Given the description of an element on the screen output the (x, y) to click on. 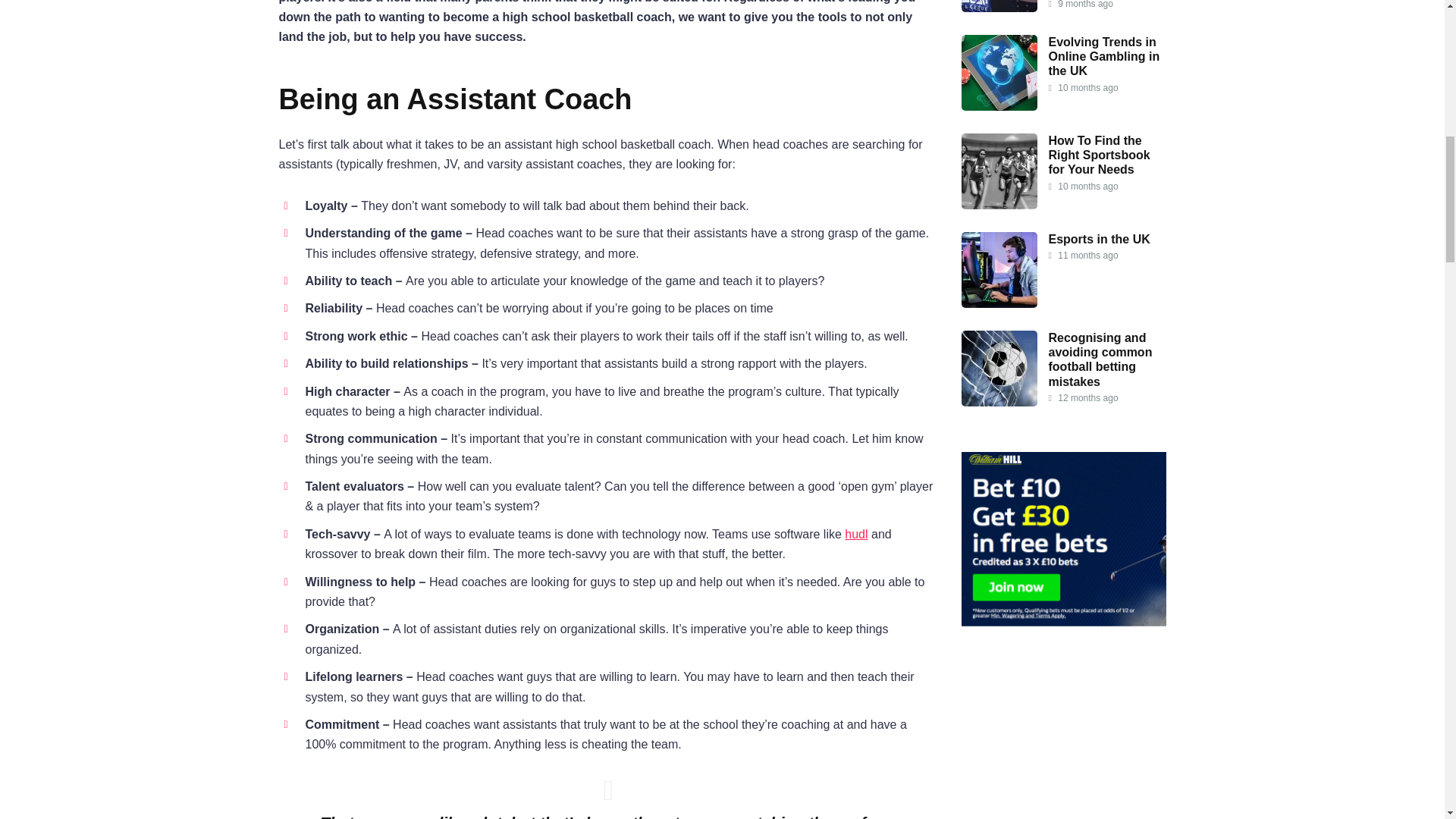
How To Find the Right Sportsbook for Your Needs (1099, 155)
Evolving Trends in Online Gambling in the UK (1103, 56)
Esports in the UK (1099, 238)
hudl (855, 533)
